Given the description of an element on the screen output the (x, y) to click on. 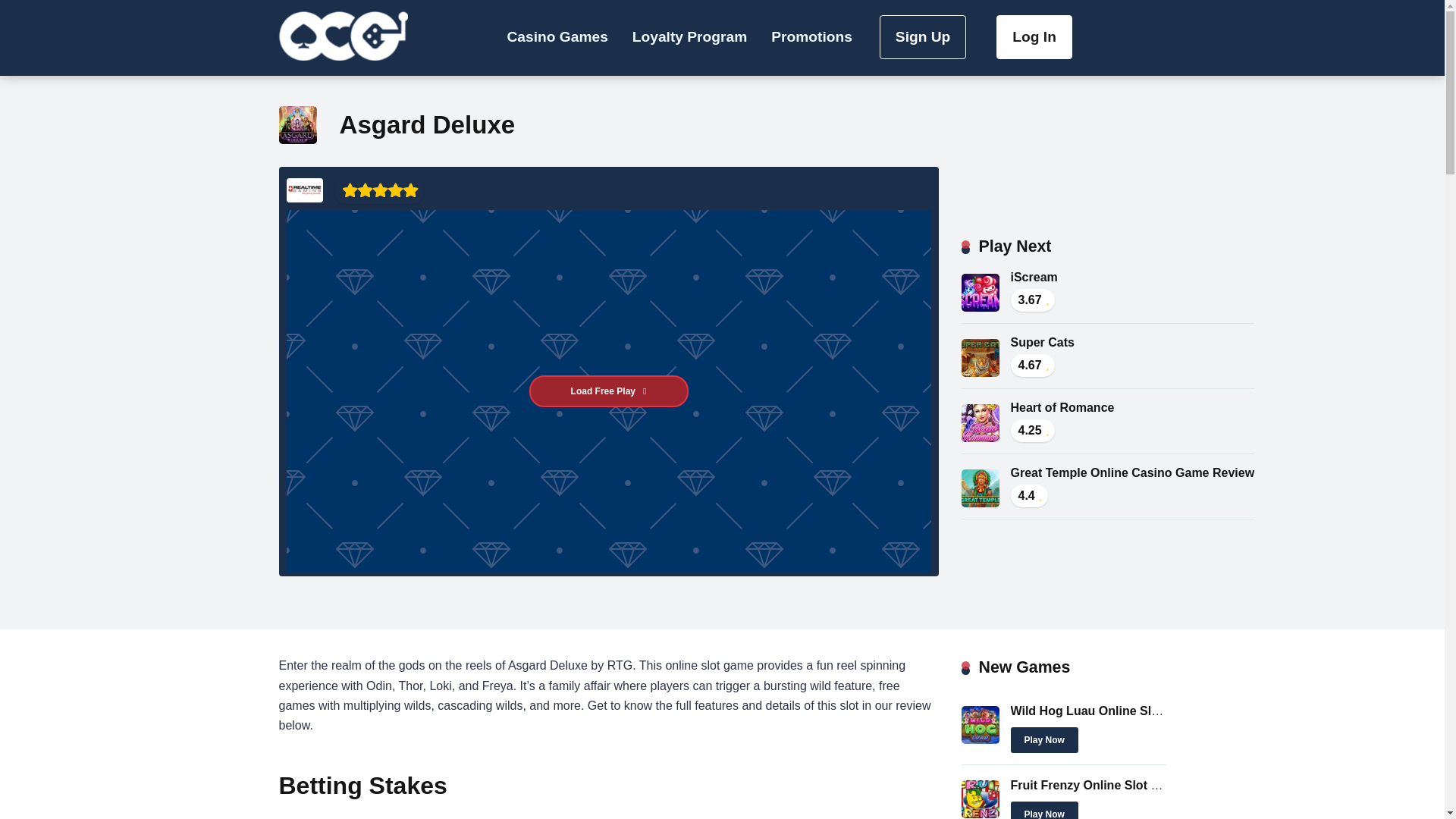
Online Casino Games (343, 32)
Log In (1033, 36)
iScream (1033, 277)
RTG (304, 190)
Super Cats (1042, 341)
Heart of Romance (979, 437)
iScream (979, 307)
Great Temple Online Casino Game Review (1131, 472)
Promotions (811, 38)
Load Free Play (608, 391)
Casino Games (557, 38)
iScream (1033, 277)
Heart of Romance (1061, 407)
Sign Up (922, 36)
